Given the description of an element on the screen output the (x, y) to click on. 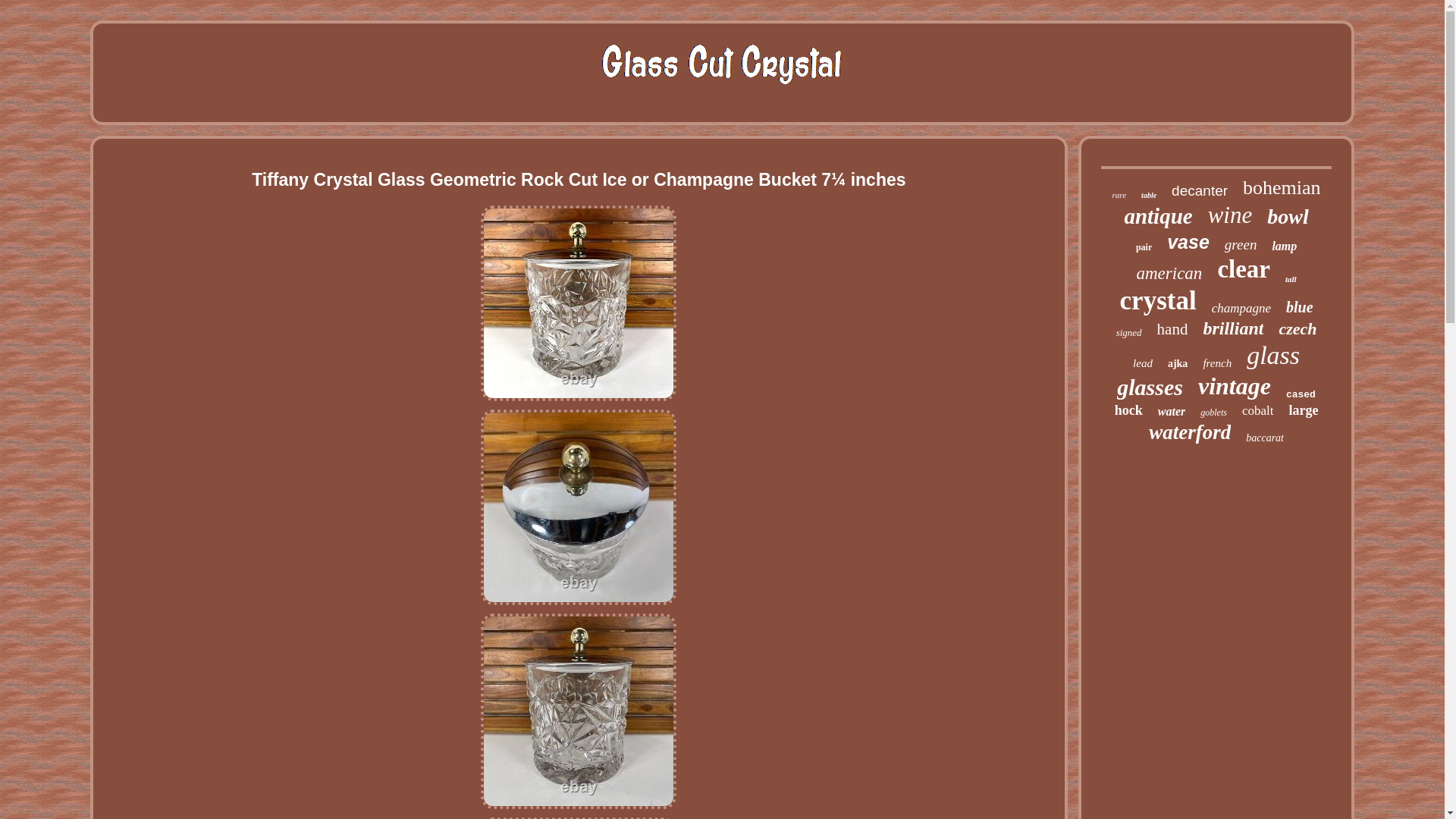
glasses (1149, 387)
tall (1291, 278)
table (1148, 194)
champagne (1241, 308)
czech (1297, 329)
bohemian (1281, 187)
ajka (1177, 363)
hand (1172, 329)
signed (1128, 332)
clear (1243, 269)
brilliant (1232, 328)
lamp (1284, 246)
rare (1119, 194)
bowl (1286, 216)
american (1168, 273)
